Given the description of an element on the screen output the (x, y) to click on. 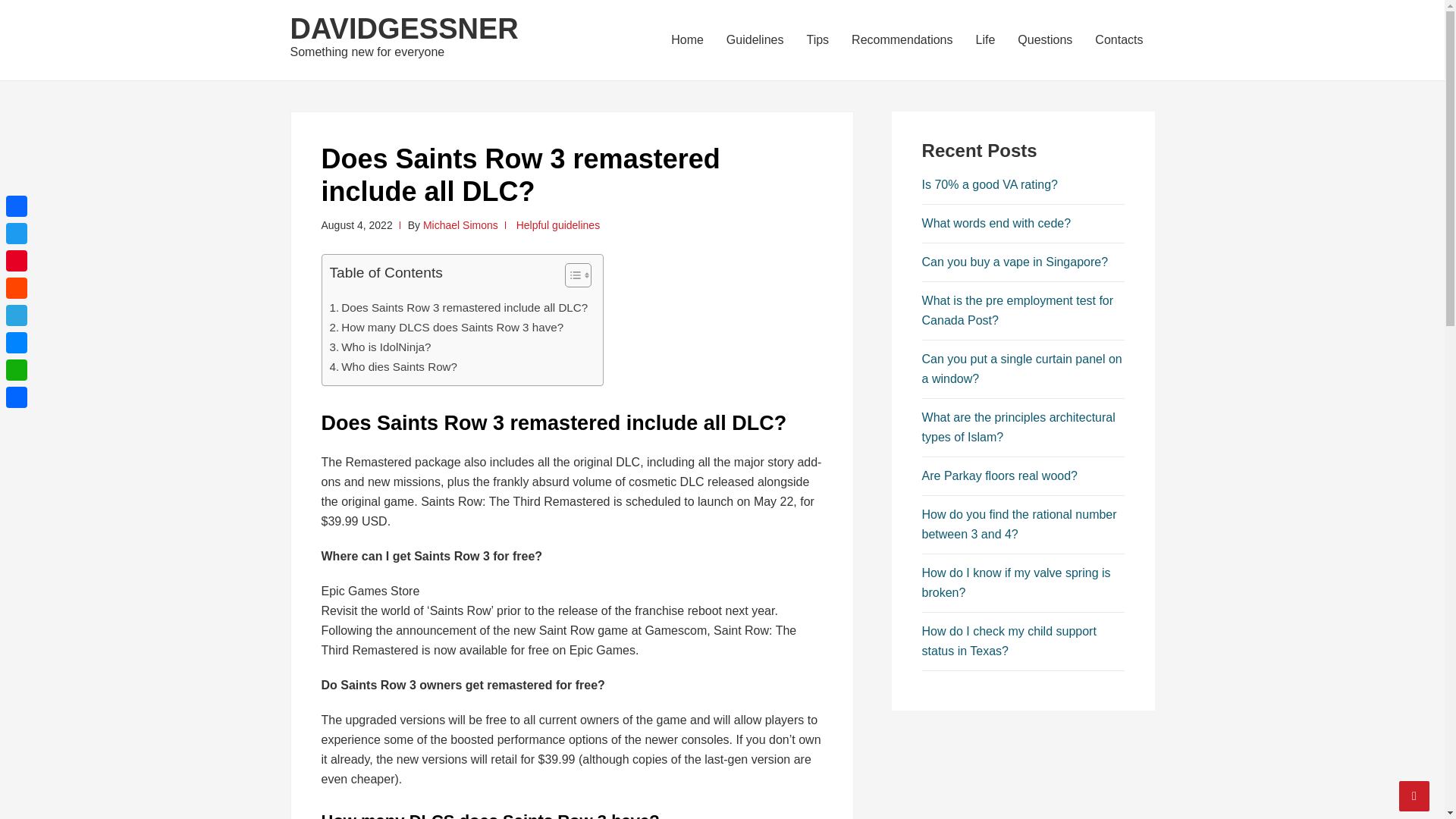
Who is IdolNinja? (379, 347)
Can you put a single curtain panel on a window? (1021, 368)
How do you find the rational number between 3 and 4? (1018, 523)
How do I check my child support status in Texas? (1008, 640)
View all posts by Michael Simons (460, 224)
Reddit (16, 288)
Who dies Saints Row? (393, 366)
Michael Simons (460, 224)
Who dies Saints Row? (393, 366)
Are Parkay floors real wood? (999, 475)
